Given the description of an element on the screen output the (x, y) to click on. 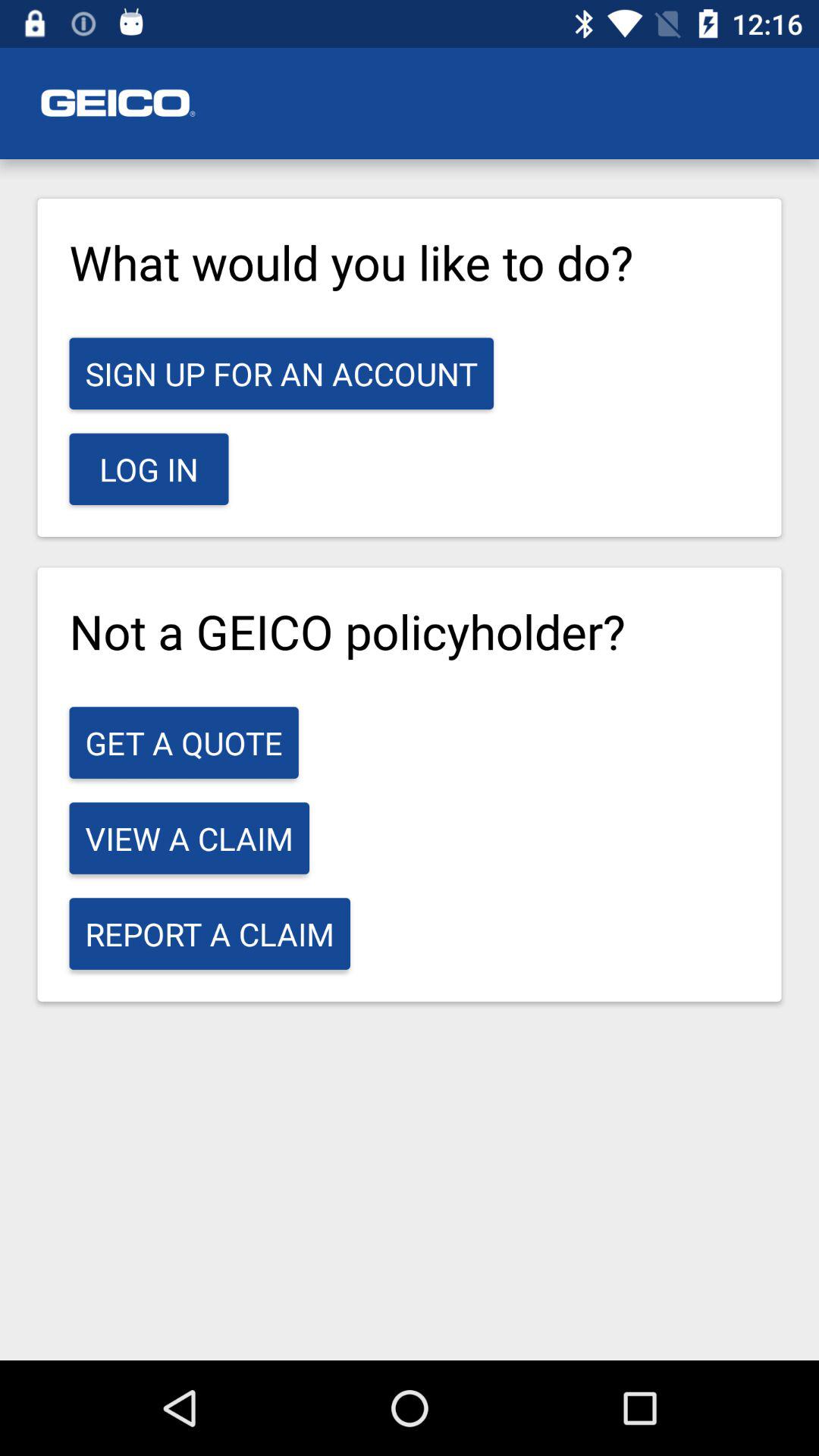
flip until sign up for icon (281, 373)
